Given the description of an element on the screen output the (x, y) to click on. 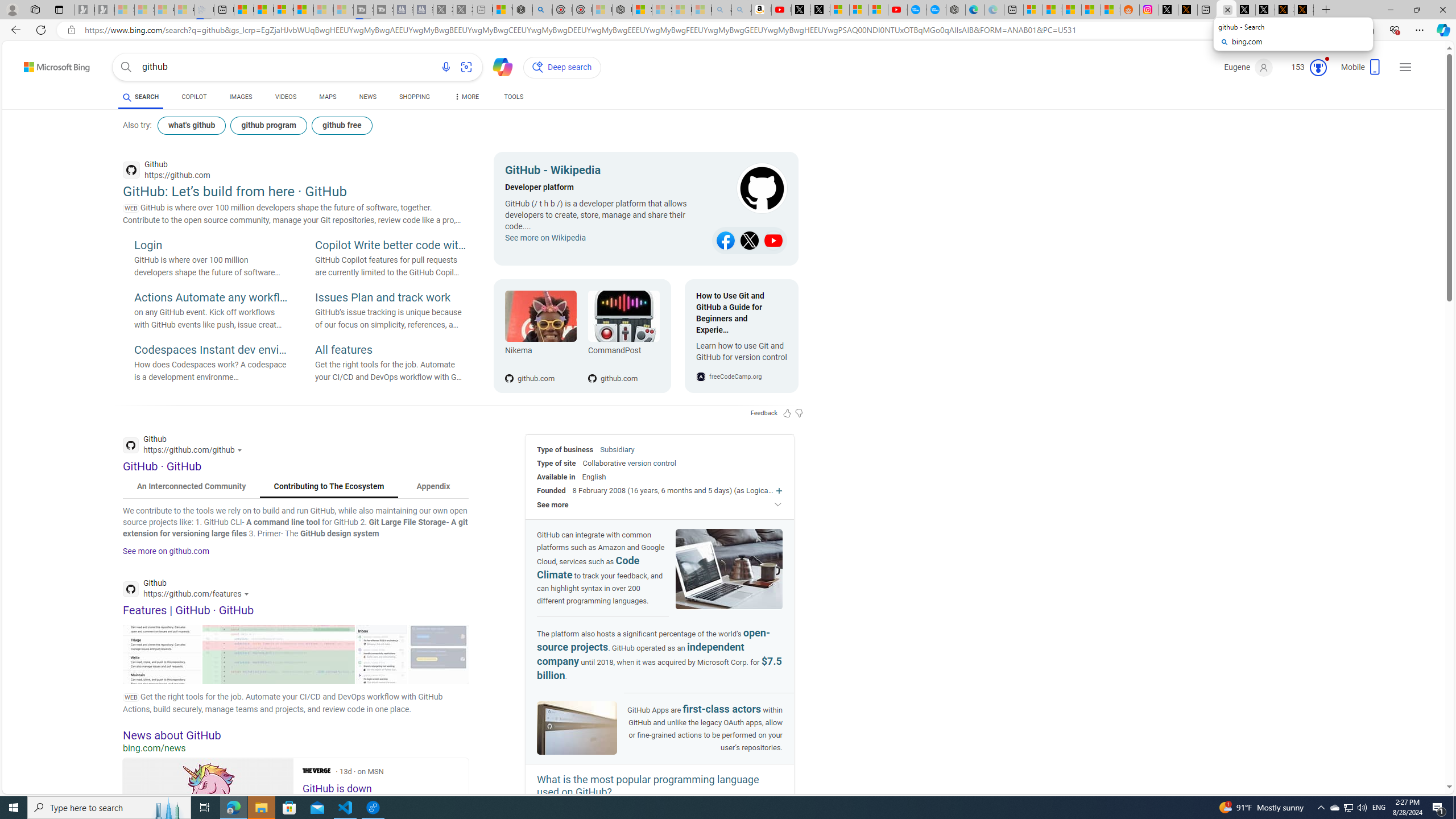
Search button (126, 66)
CommandPost CommandPost github.com (617, 335)
An Interconnected Community (191, 486)
SHOPPING (414, 96)
amazon - Search - Sleeping (721, 9)
Available in (556, 476)
Opinion: Op-Ed and Commentary - USA TODAY (916, 9)
Skip to content (36, 63)
help.x.com | 524: A timeout occurred (1187, 9)
